Given the description of an element on the screen output the (x, y) to click on. 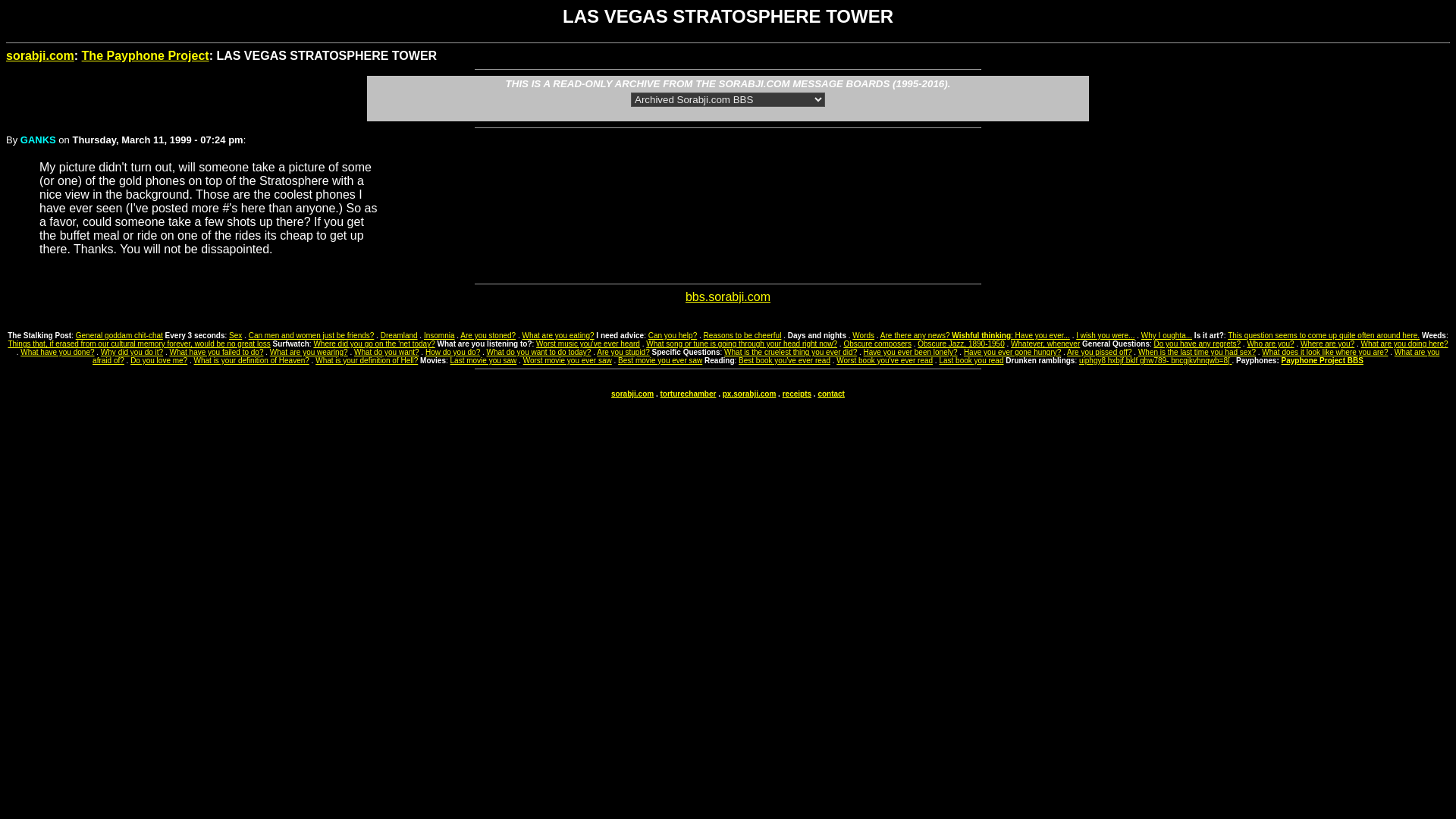
What are you eating? (557, 335)
How do you do? (452, 352)
What do you want to do today? (538, 352)
Insomnia (438, 335)
This question seems to come up quite often around here. (1323, 335)
Are you stoned? (487, 335)
The Payphone Project (145, 55)
Sex (234, 335)
Dreamland (398, 335)
Are you stupid? (622, 352)
What are you wearing? (308, 352)
LAS VEGAS STRATOSPHERE TOWER (727, 33)
What have you failed to do? (215, 352)
Who are you? (1270, 343)
What are you doing here? (1403, 343)
